Given the description of an element on the screen output the (x, y) to click on. 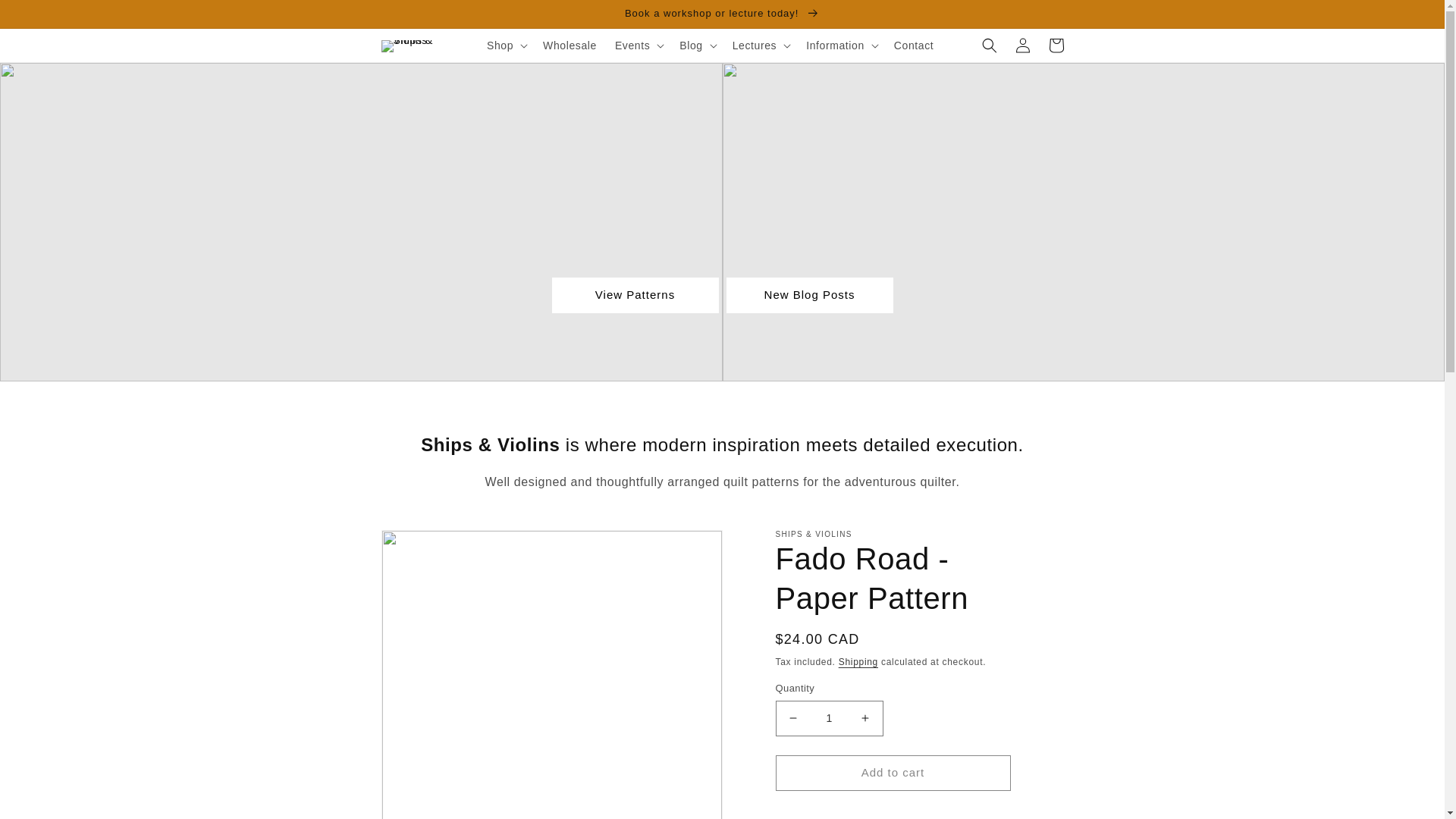
Skip to content (45, 17)
1 (828, 718)
Wholesale (569, 45)
